Given the description of an element on the screen output the (x, y) to click on. 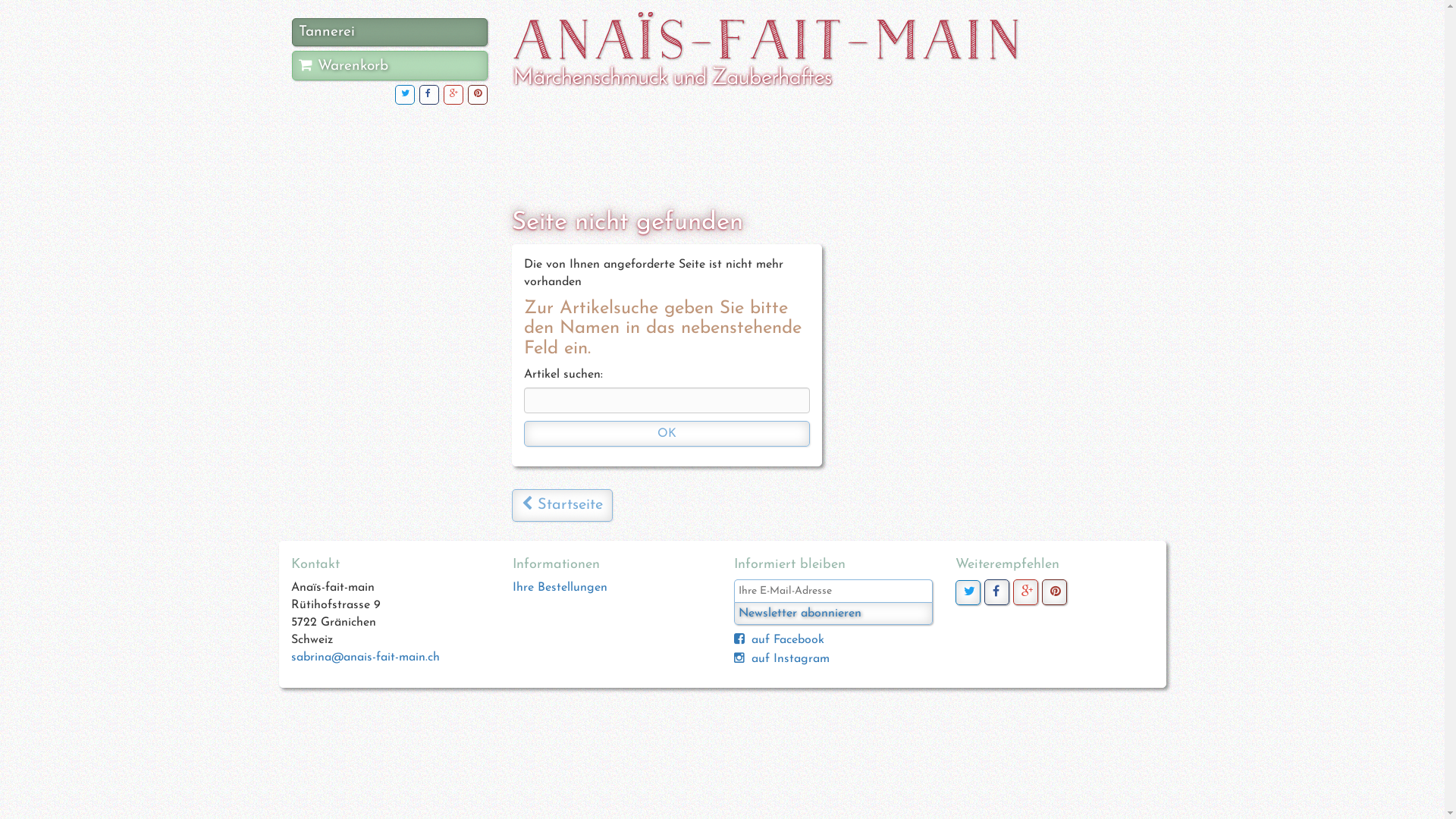
Ihre Bestellungen Element type: text (559, 587)
Startseite Element type: text (561, 505)
Tannerei Element type: text (389, 31)
auf Facebook Element type: text (786, 639)
Newsletter abonnieren Element type: text (833, 613)
OK Element type: text (666, 433)
auf Instagram Element type: text (789, 658)
Warenkorb Element type: text (389, 65)
sabrina@anais-fait-main.ch Element type: text (365, 657)
